Given the description of an element on the screen output the (x, y) to click on. 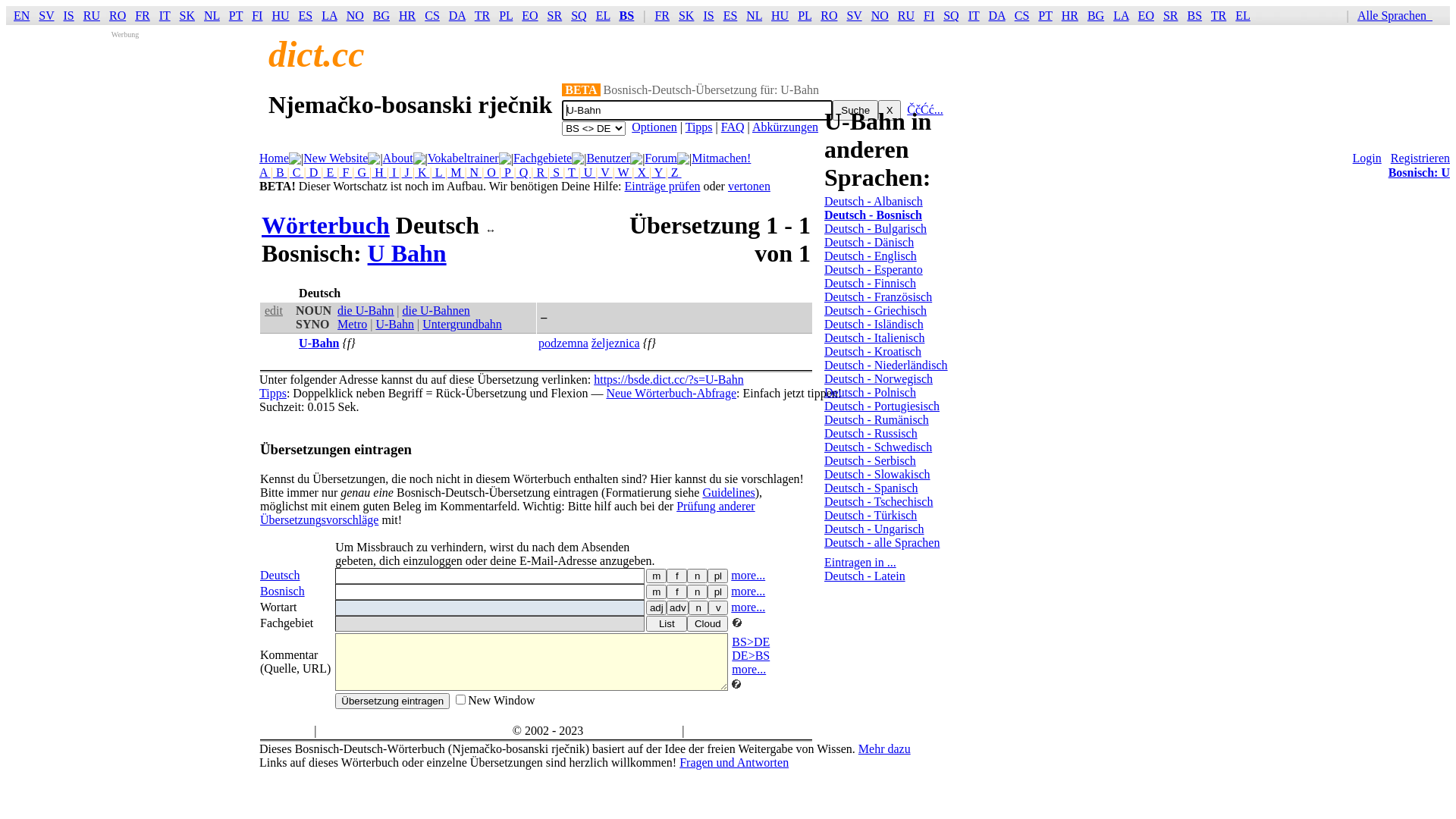
Deutsch - Tschechisch Element type: text (878, 501)
NO Element type: text (355, 15)
Deutsch - Latein Element type: text (864, 575)
PL Element type: text (804, 15)
EN Element type: text (21, 15)
R Element type: text (540, 172)
SV Element type: text (853, 15)
K Element type: text (421, 172)
T Element type: text (570, 172)
Deutsch - Norwegisch Element type: text (878, 378)
TR Element type: text (481, 15)
EL Element type: text (1242, 15)
List Element type: text (666, 623)
HU Element type: text (779, 15)
EO Element type: text (1146, 15)
HR Element type: text (406, 15)
G Element type: text (361, 172)
RO Element type: text (117, 15)
NL Element type: text (211, 15)
PL Element type: text (505, 15)
Deutsch - Italienisch Element type: text (874, 337)
CS Element type: text (1021, 15)
Deutsch Element type: text (279, 574)
I Element type: text (393, 172)
more... Element type: text (748, 668)
edit Element type: text (273, 310)
Deutsch - Serbisch Element type: text (870, 460)
PT Element type: text (235, 15)
Deutsch - alle Sprachen Element type: text (881, 542)
E Element type: text (329, 172)
Deutsch - Albanisch Element type: text (873, 200)
A Element type: text (264, 172)
Bosnisch Element type: text (560, 292)
Login Element type: text (1366, 157)
U Element type: text (588, 172)
H Element type: text (378, 172)
Bosnisch Element type: text (282, 590)
NL Element type: text (754, 15)
IS Element type: text (707, 15)
Metro Element type: text (352, 323)
adj Element type: text (656, 607)
F Element type: text (344, 172)
n Element type: text (697, 575)
IT Element type: text (973, 15)
ES Element type: text (730, 15)
more... Element type: text (748, 590)
EL Element type: text (603, 15)
die - Mehrzahl (Plural) Element type: hover (717, 575)
DA Element type: text (456, 15)
FAQ Element type: text (732, 126)
Deutsch - Bulgarisch Element type: text (875, 228)
Tipps Element type: text (272, 392)
Deutsch - Ungarisch Element type: text (874, 528)
L Element type: text (438, 172)
SR Element type: text (1170, 15)
Alle Sprachen  Element type: text (1398, 15)
U-Bahn Element type: text (318, 342)
BG Element type: text (381, 15)
Fragen und Antworten Element type: text (733, 762)
die - weiblich (Femininum) Element type: hover (676, 575)
v Element type: text (718, 607)
FR Element type: text (142, 15)
PT Element type: text (1044, 15)
P Element type: text (507, 172)
Deutsch - Griechisch Element type: text (875, 310)
Deutsch - Portugiesisch Element type: text (881, 405)
Untergrundbahn Element type: text (462, 323)
die U-Bahn Element type: text (365, 310)
V Element type: text (605, 172)
Impressum / Datenschutz Element type: text (748, 730)
U Bahn Element type: text (406, 252)
W Element type: text (623, 172)
J Element type: text (406, 172)
f Element type: text (676, 591)
Deutsch - Spanisch Element type: text (871, 487)
D Element type: text (313, 172)
more... Element type: text (748, 574)
Mehr dazu Element type: text (884, 748)
Fachgebiete Element type: text (542, 157)
n Element type: text (698, 607)
EO Element type: text (529, 15)
more... Element type: text (748, 606)
X Element type: text (641, 172)
Q Element type: text (523, 172)
pl Element type: text (717, 591)
SV Element type: text (45, 15)
m Element type: text (656, 575)
Tipps Element type: text (698, 126)
BS Element type: text (1194, 15)
HR Element type: text (1069, 15)
SQ Element type: text (950, 15)
Cloud Element type: text (707, 623)
Deutsch - Bosnisch Element type: text (873, 214)
Guidelines Element type: text (728, 492)
m Element type: text (656, 591)
Registrieren Element type: text (1419, 157)
https://bsde.dict.cc/?s=U-Bahn Element type: text (668, 379)
vertonen Element type: text (749, 185)
FI Element type: text (256, 15)
U-Bahn Element type: text (394, 323)
S Element type: text (555, 172)
DA Element type: text (996, 15)
f Element type: text (676, 575)
Home Element type: text (273, 157)
dict.cc Element type: text (316, 54)
adv Element type: text (677, 607)
Optionen Element type: text (654, 126)
Z Element type: text (674, 172)
BG Element type: text (1095, 15)
NO Element type: text (879, 15)
nach oben Element type: text (285, 730)
Deutsch - Polnisch Element type: text (870, 391)
Vokabeltrainer Element type: text (462, 157)
TR Element type: text (1218, 15)
Deutsch - Esperanto Element type: text (873, 269)
M Element type: text (455, 172)
Paul Hemetsberger Element type: text (632, 730)
ES Element type: text (305, 15)
Deutsch - Russisch Element type: text (870, 432)
home Element type: text (333, 730)
Y Element type: text (658, 172)
HU Element type: text (279, 15)
O Element type: text (490, 172)
IT Element type: text (164, 15)
C Element type: text (296, 172)
srednji rod Element type: hover (697, 591)
N Element type: text (474, 172)
pl Element type: text (717, 575)
FR Element type: text (661, 15)
IS Element type: text (68, 15)
Eintragen in ... Element type: text (860, 561)
New Website Element type: text (335, 157)
BS>DE Element type: text (750, 641)
die U-Bahnen Element type: text (436, 310)
LA Element type: text (1120, 15)
Deutsch - Englisch Element type: text (870, 255)
SK Element type: text (186, 15)
X Element type: text (889, 110)
Deutsch - Finnisch Element type: text (870, 282)
Deutsch - Schwedisch Element type: text (877, 446)
CS Element type: text (431, 15)
FI Element type: text (928, 15)
n Element type: text (697, 591)
LA Element type: text (328, 15)
About Element type: text (397, 157)
SK Element type: text (685, 15)
Mitmachen! Element type: text (720, 157)
B Element type: text (280, 172)
Deutsch - Slowakisch Element type: text (877, 473)
podzemna Element type: text (563, 342)
SQ Element type: text (578, 15)
RU Element type: text (905, 15)
RU Element type: text (91, 15)
Forum Element type: text (660, 157)
Benutzer Element type: text (608, 157)
Bosnisch: U Element type: text (1418, 172)
RO Element type: text (828, 15)
Suche Element type: text (855, 110)
SR Element type: text (554, 15)
BS Element type: text (626, 15)
Deutsch - Kroatisch Element type: text (872, 351)
DE>BS Element type: text (750, 655)
